Given the description of an element on the screen output the (x, y) to click on. 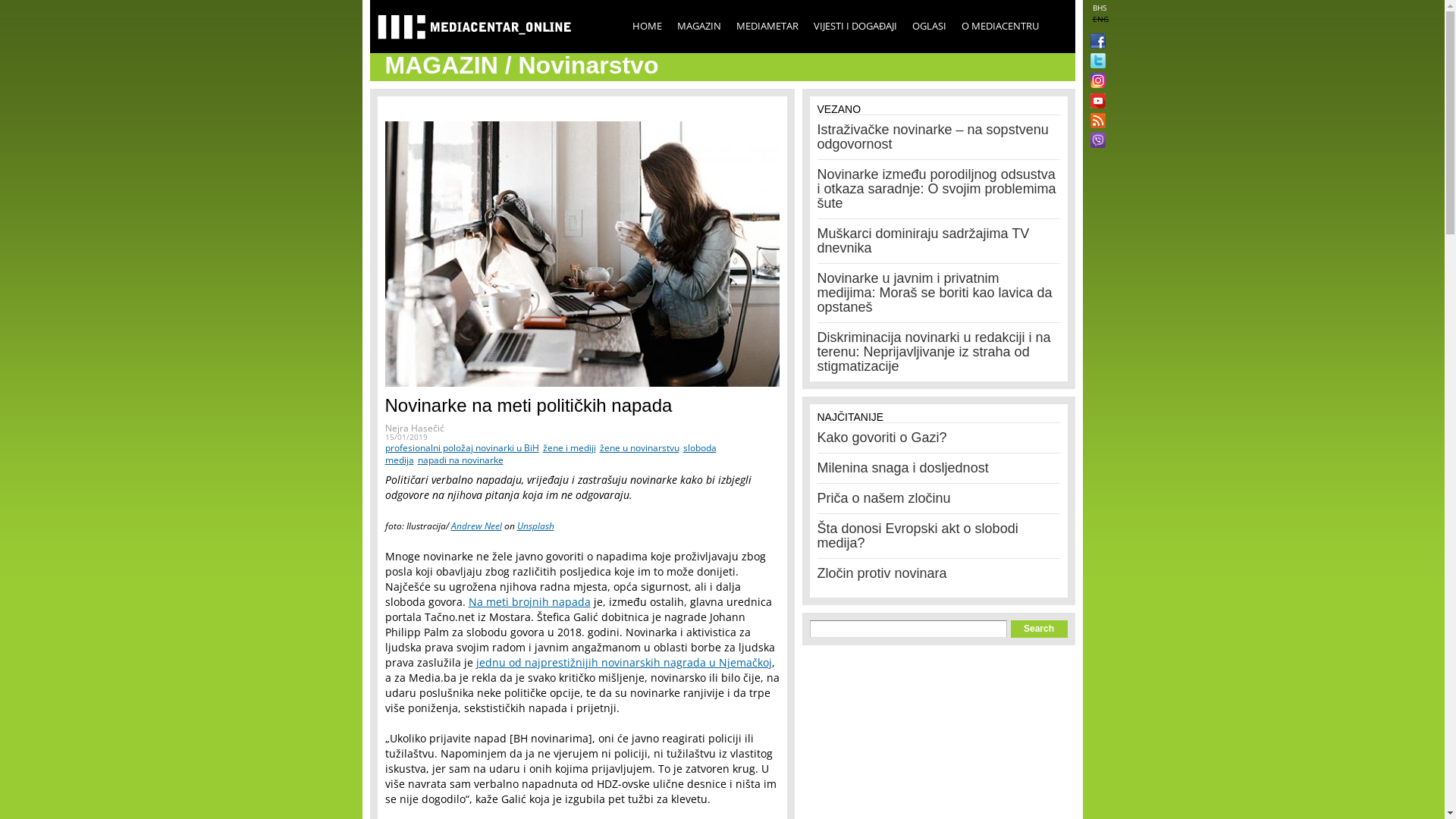
MC_ONLINE Twitter Element type: hover (1094, 62)
Na meti brojnih napada Element type: text (529, 601)
MC_ONLINE YouTube Element type: hover (1094, 100)
OGLASI Element type: text (928, 25)
MC_ONLINE Facebook Element type: hover (1094, 42)
Skip to main content Element type: text (688, 1)
MC_ONLINE VIBER Element type: hover (1094, 141)
MC_ONLINE Instagram Element type: hover (1094, 81)
Andrew Neel Element type: text (475, 525)
MC_ONLINE RSS Element type: hover (1094, 122)
Milenina snaga i dosljednost Element type: text (902, 467)
sloboda medija Element type: text (550, 453)
Search Element type: text (1038, 628)
HOME Element type: text (647, 25)
napadi na novinarke Element type: text (459, 459)
BHS Element type: text (1098, 7)
Enter the terms you wish to search for. Element type: hover (908, 628)
Unsplash Element type: text (535, 525)
MAGAZIN Element type: text (698, 25)
Kako govoriti o Gazi? Element type: text (882, 437)
MEDIAMETAR Element type: text (766, 25)
O MEDIACENTRU Element type: text (999, 25)
